Given the description of an element on the screen output the (x, y) to click on. 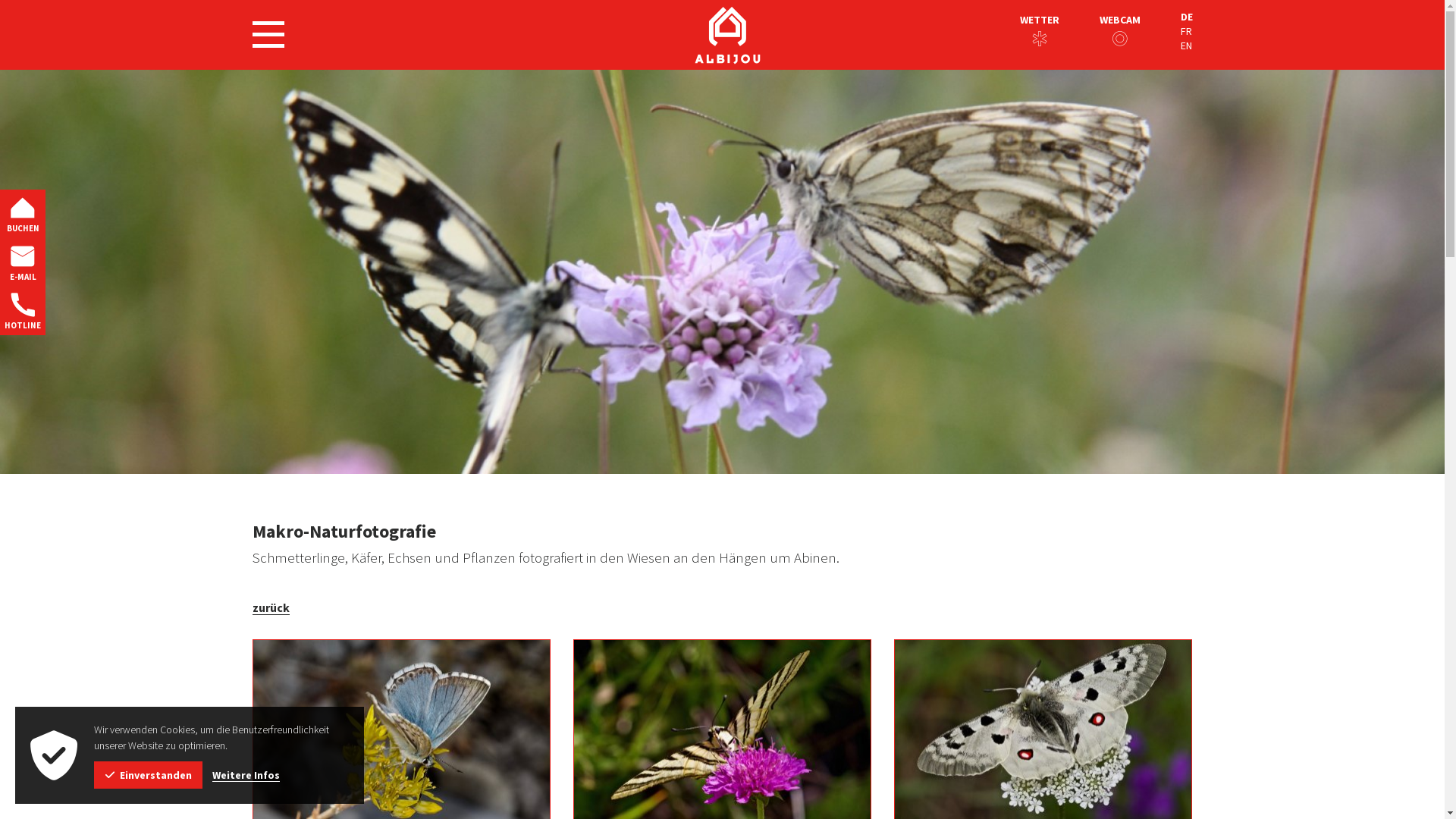
Einverstanden Element type: text (148, 774)
BUCHEN Element type: text (22, 213)
HOTLINE Element type: text (22, 310)
DE Element type: text (1185, 16)
FR Element type: text (1185, 31)
WEBCAM Element type: text (1119, 19)
EN Element type: text (1185, 45)
E-MAIL Element type: text (22, 262)
Weitere Infos Element type: text (245, 775)
WETTER Element type: text (1038, 19)
